Given the description of an element on the screen output the (x, y) to click on. 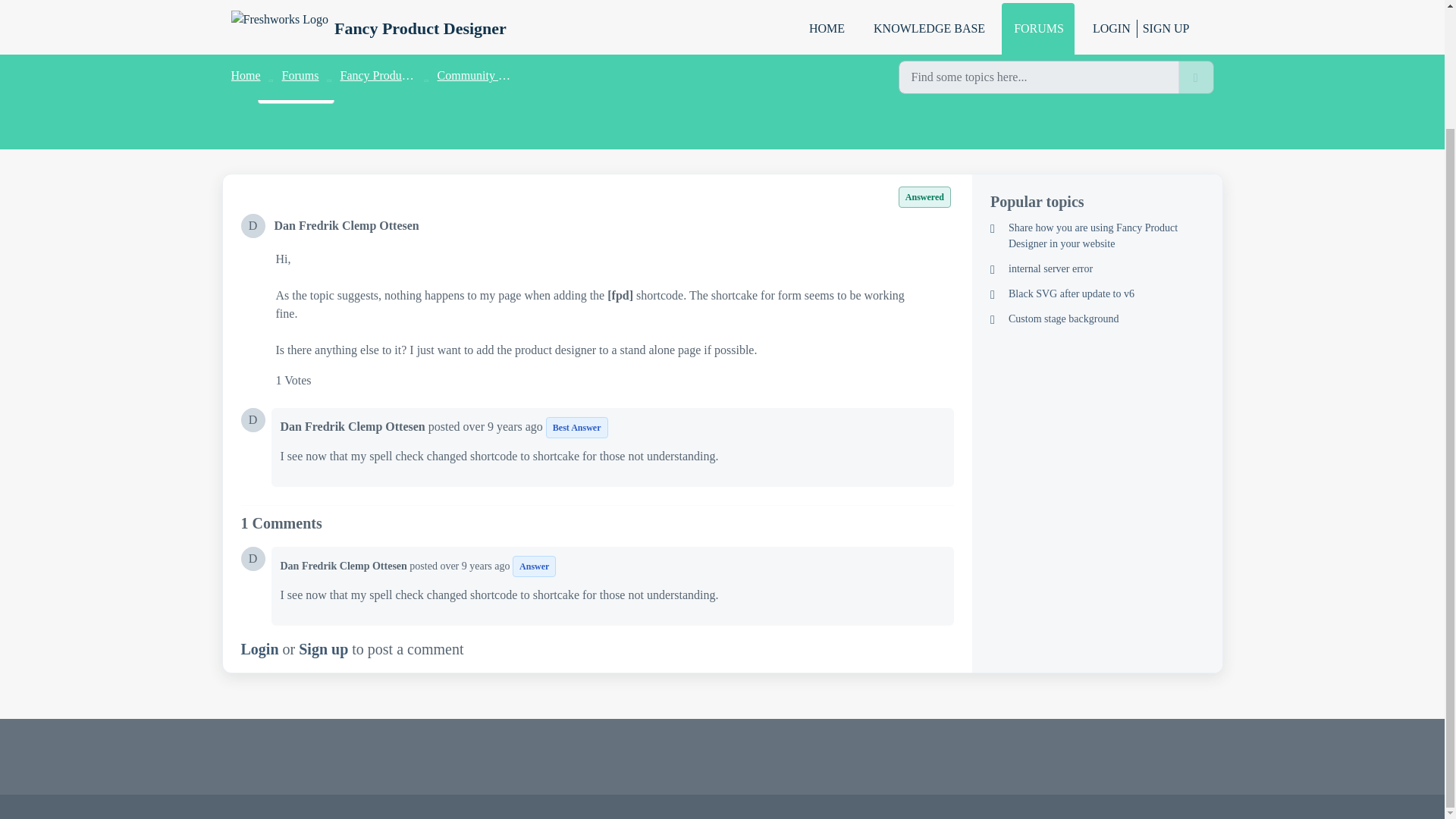
Custom stage background (1097, 318)
internal server error (1097, 268)
Post a topic (295, 86)
11 May, 2015 (475, 565)
Login (260, 648)
Sign up (322, 648)
10 May, 2015 (334, 47)
11 May, 2015 (504, 426)
Black SVG after update to v6 (1097, 293)
